Given the description of an element on the screen output the (x, y) to click on. 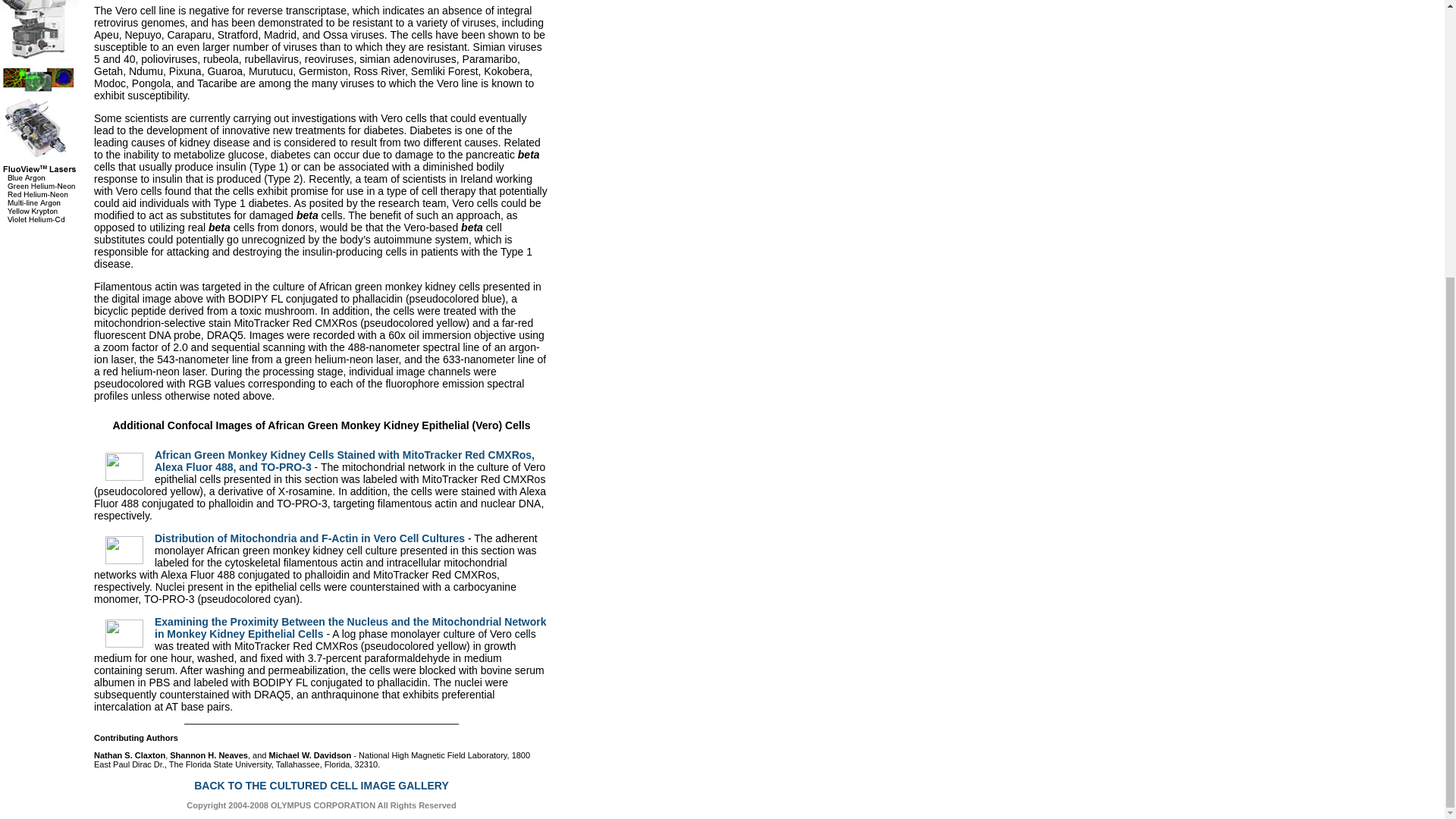
BACK TO THE CULTURED CELL IMAGE GALLERY (320, 785)
